Given the description of an element on the screen output the (x, y) to click on. 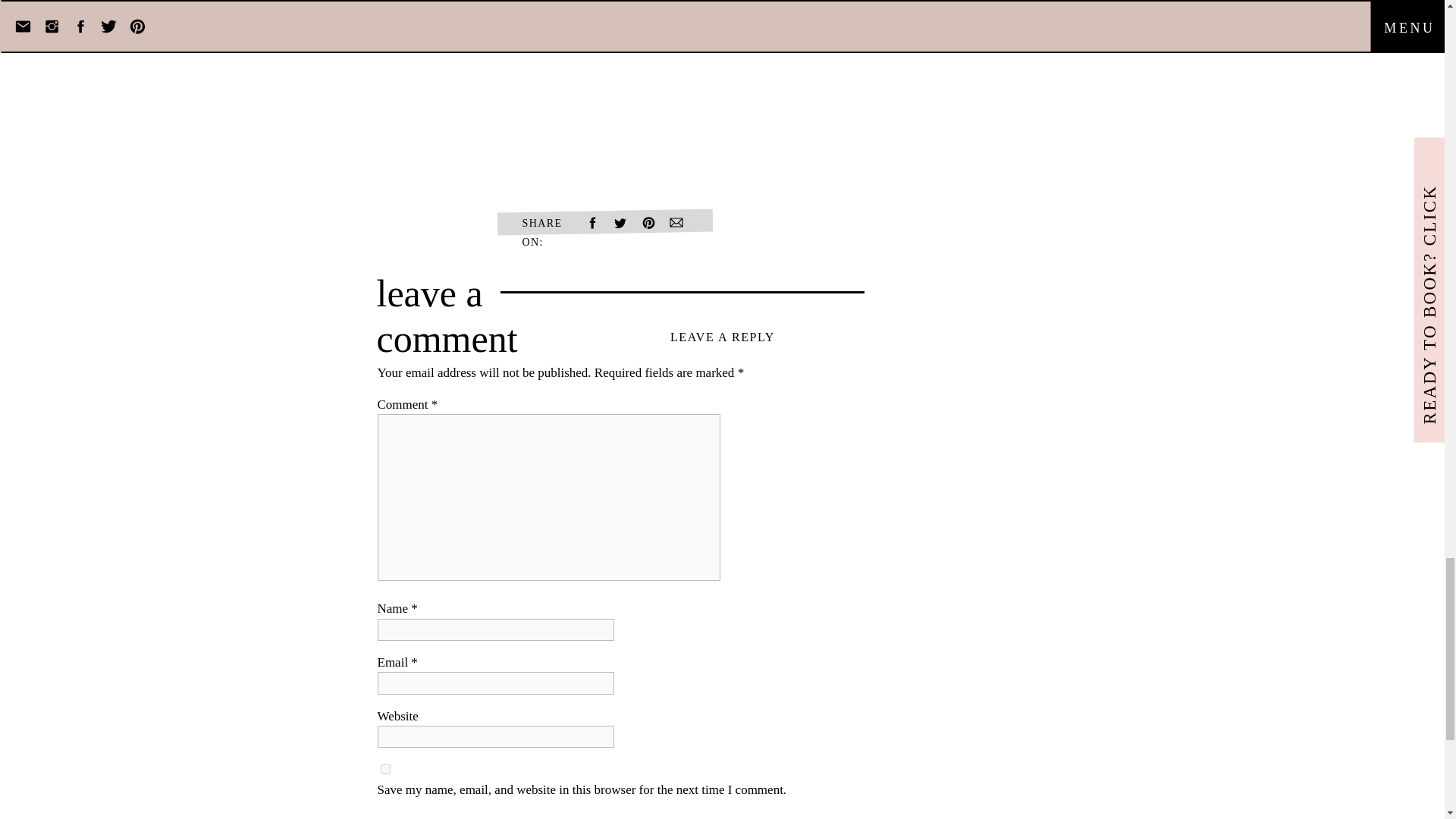
yes (385, 768)
